Given the description of an element on the screen output the (x, y) to click on. 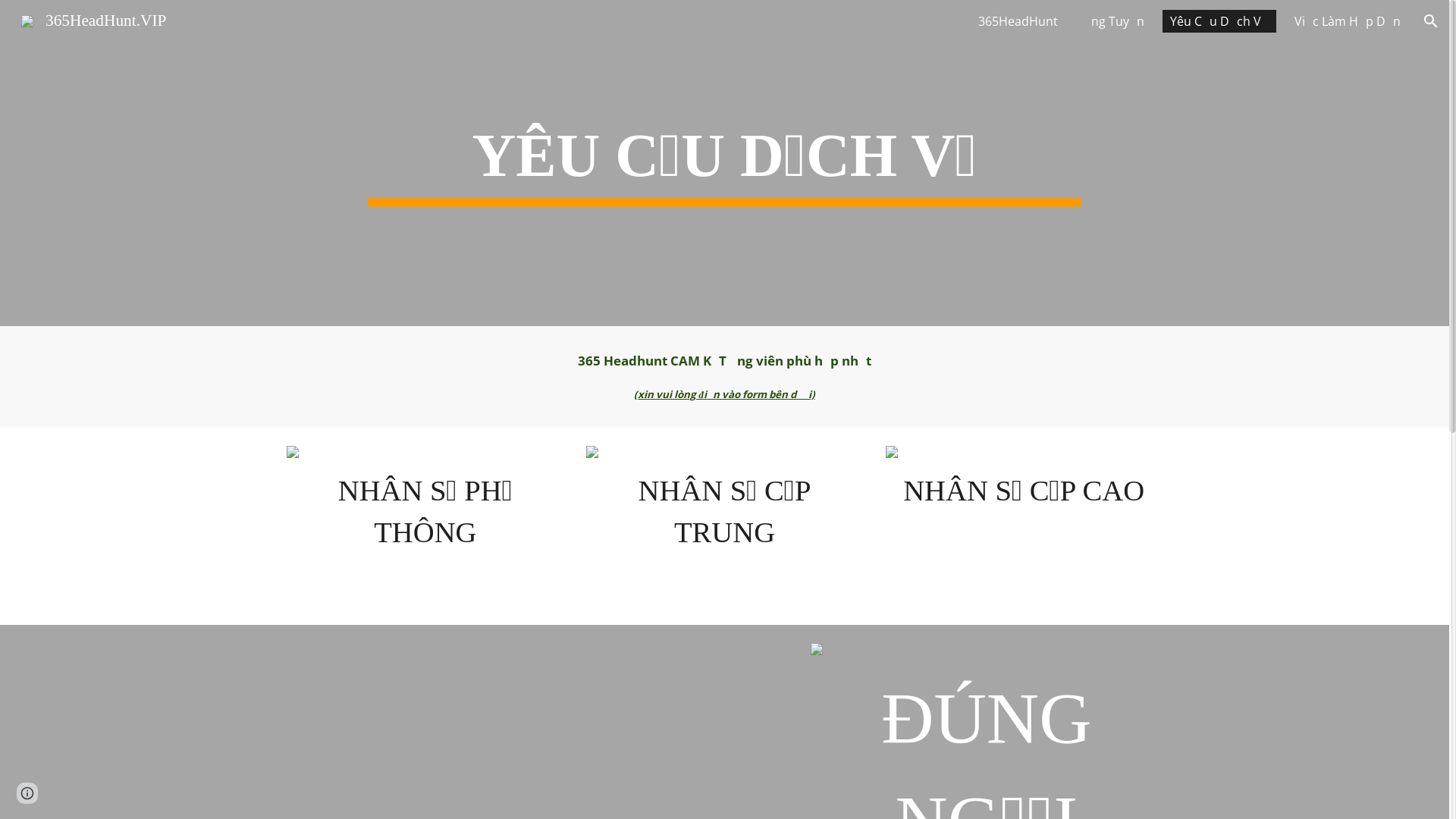
365HeadHunt.VIP Element type: text (93, 19)
365HeadHunt Element type: text (1017, 20)
